Given the description of an element on the screen output the (x, y) to click on. 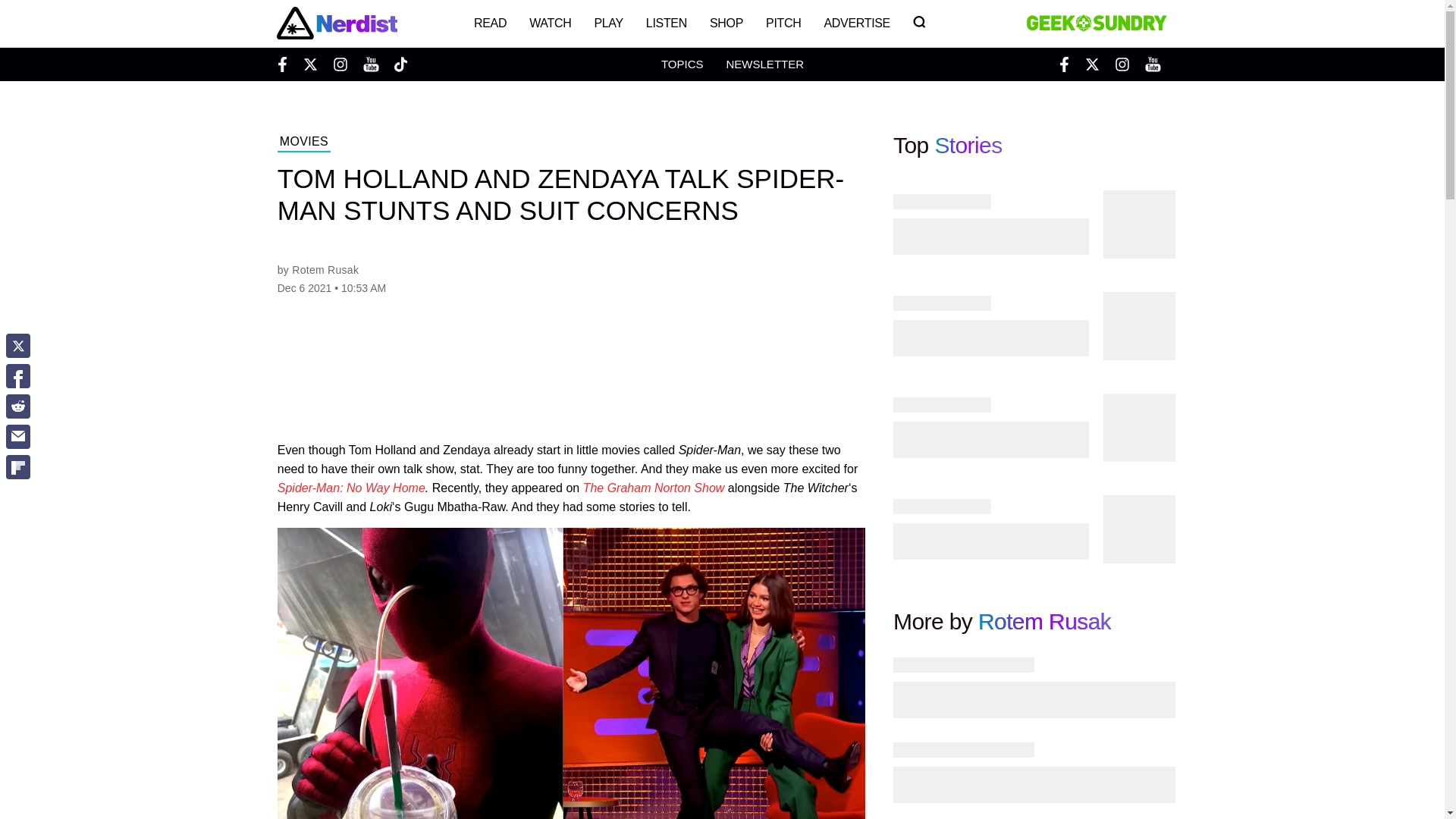
MOVIES (304, 143)
NEWSLETTER (764, 63)
LISTEN (666, 22)
READ (490, 22)
Twitter Geek and Sundry (1091, 63)
Spider-Man: No Way Home (351, 487)
The Graham Norton Show (654, 487)
ADVERTISE (856, 22)
ADVERTISE (856, 22)
Youtube Nerdist (370, 63)
